Given the description of an element on the screen output the (x, y) to click on. 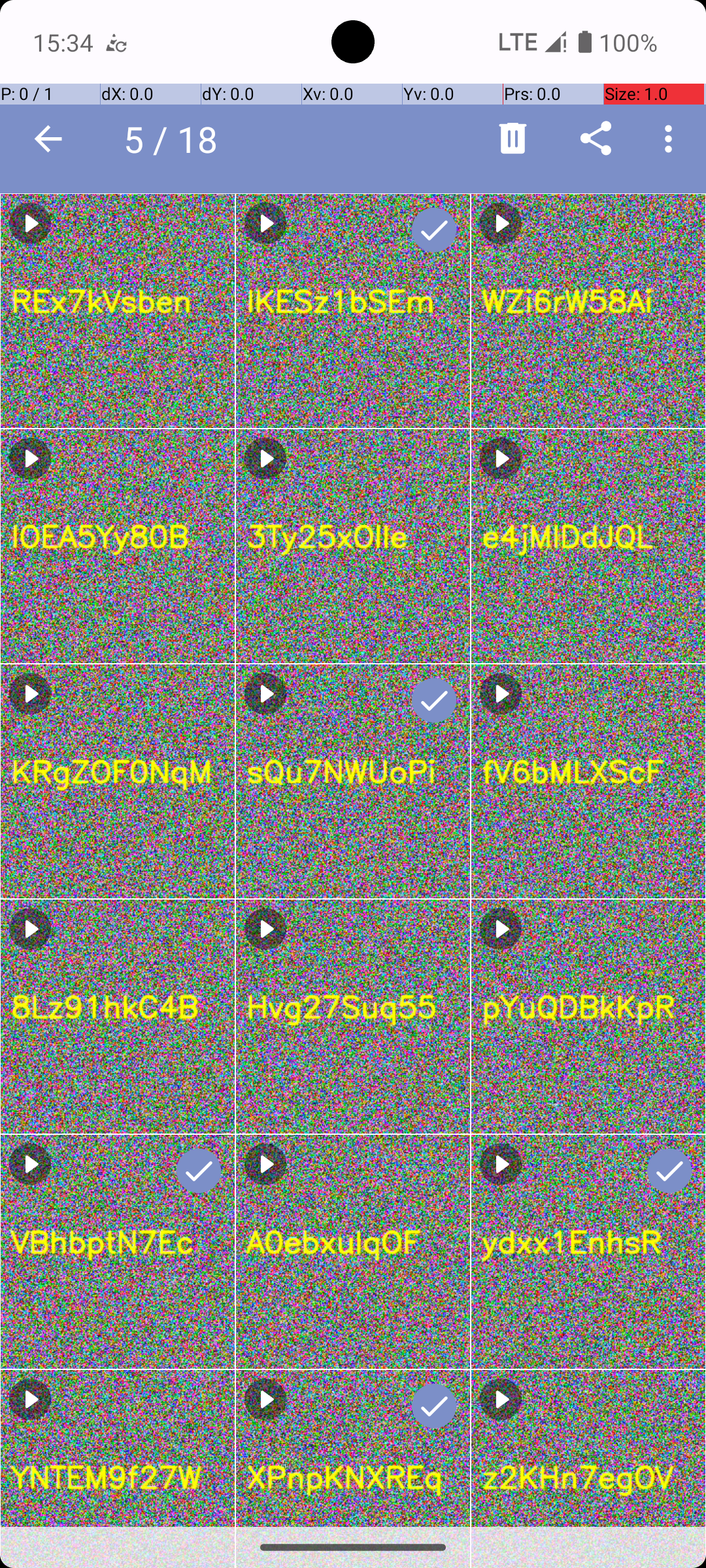
5 / 18 Element type: android.widget.TextView (177, 138)
Search in VLCVideos Element type: android.widget.EditText (252, 138)
